Given the description of an element on the screen output the (x, y) to click on. 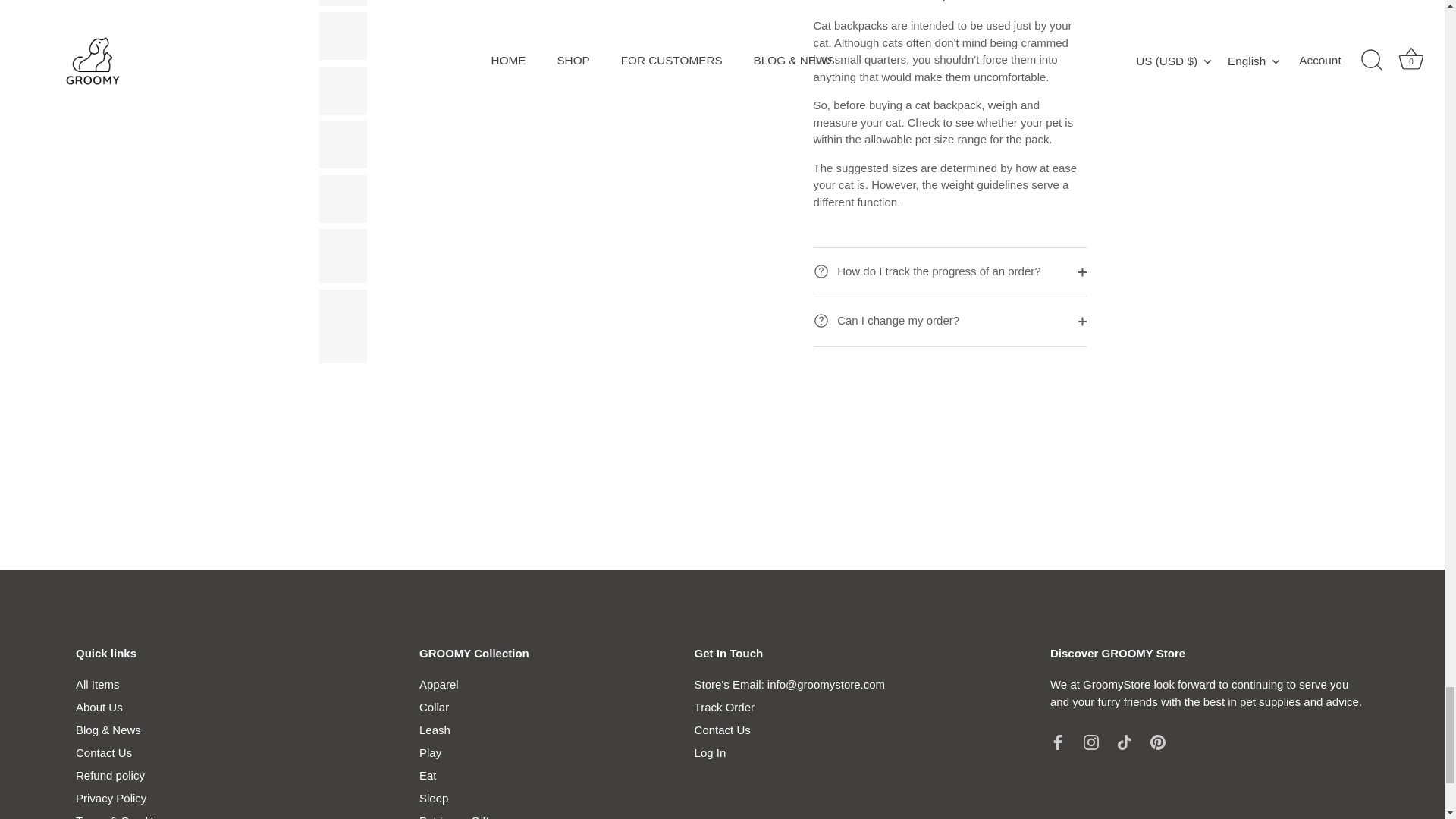
Pinterest (1158, 742)
Instagram (1091, 742)
